Given the description of an element on the screen output the (x, y) to click on. 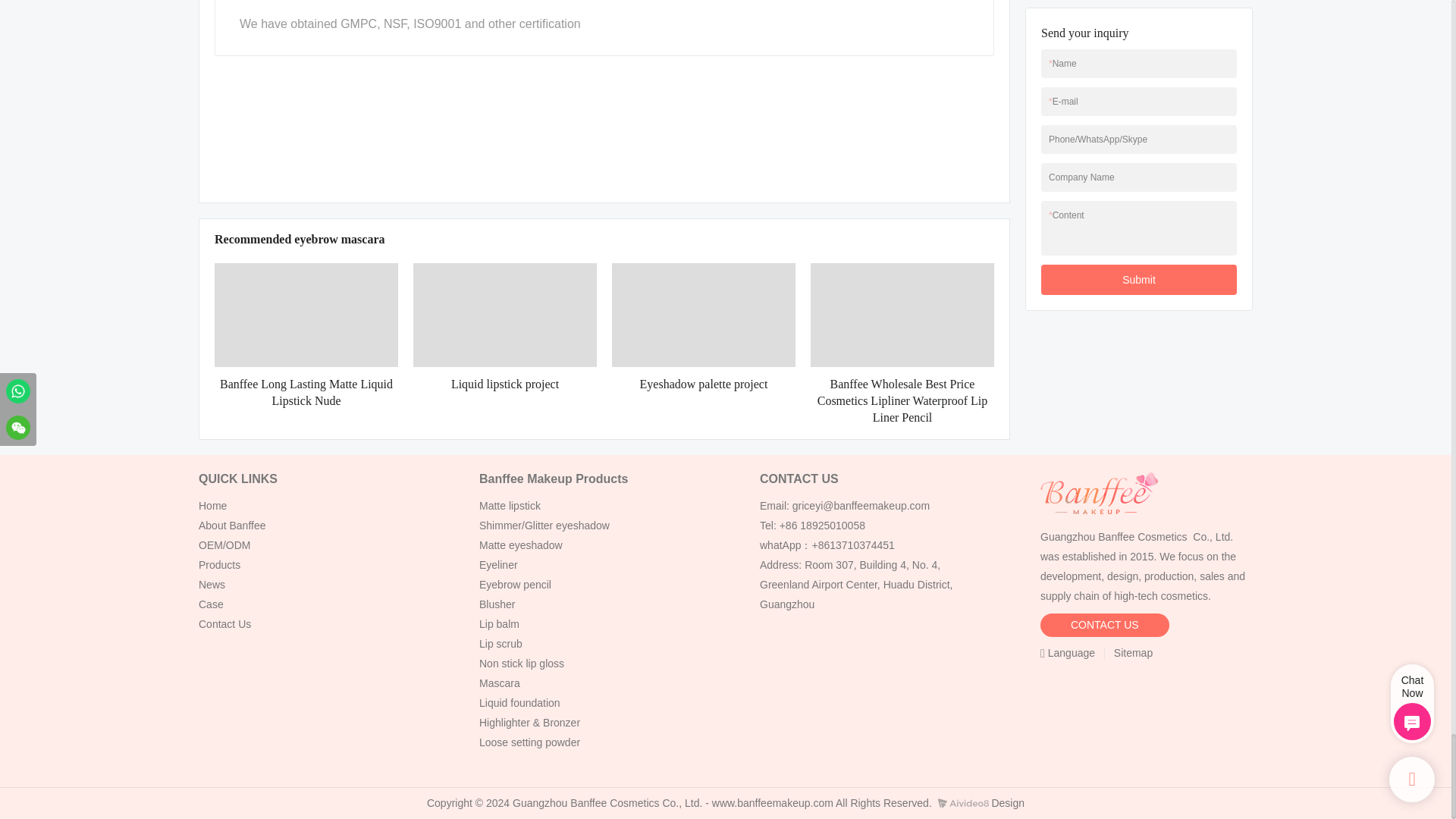
Banffee Long Lasting Matte Liquid Lipstick Nude (305, 392)
Eyeshadow palette project (702, 384)
Liquid lipstick project (504, 384)
